Given the description of an element on the screen output the (x, y) to click on. 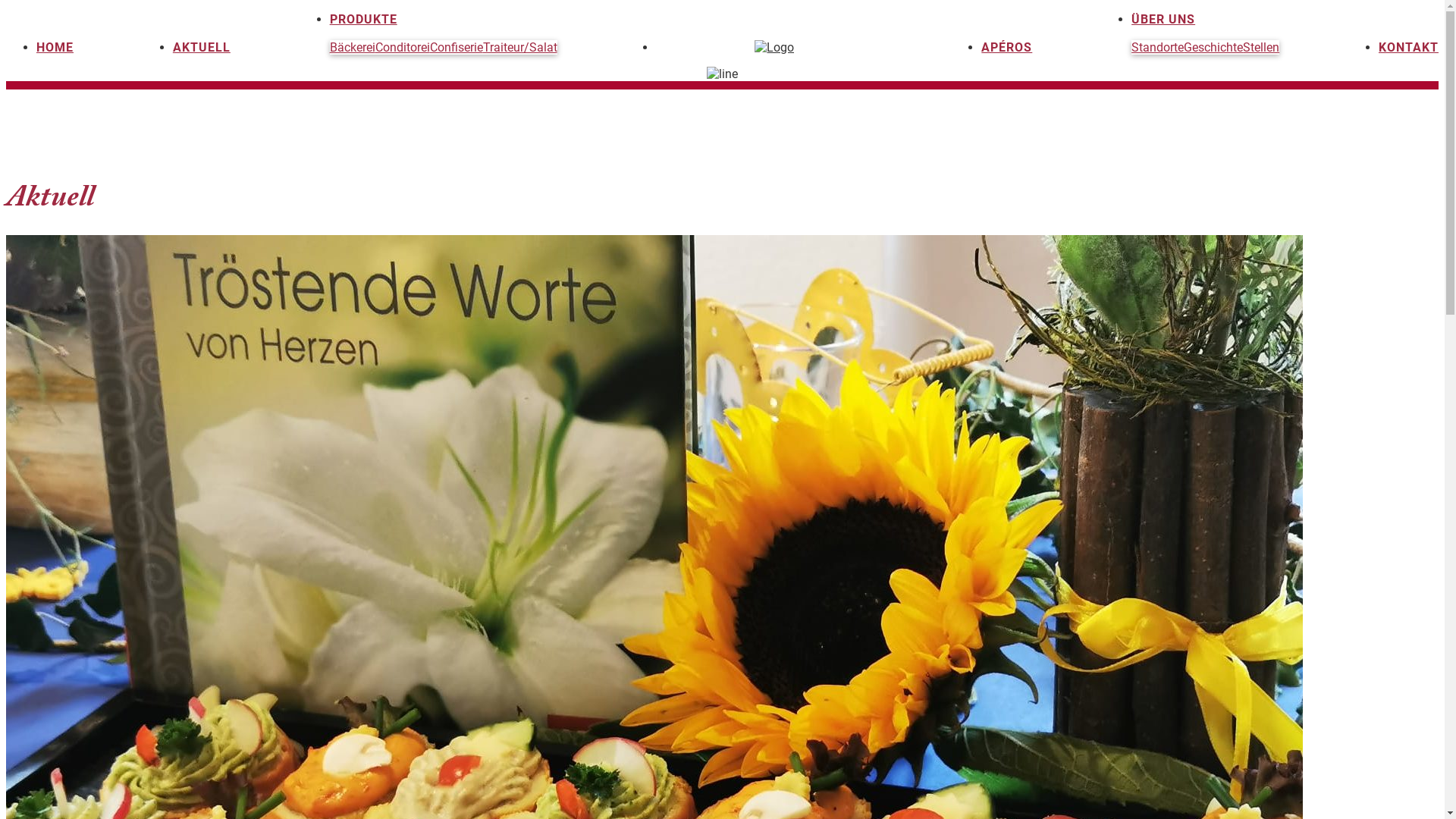
Stellen Element type: text (1260, 47)
Standorte Element type: text (1157, 47)
KONTAKT Element type: text (1408, 47)
HOME Element type: text (54, 47)
AKTUELL Element type: text (201, 47)
Geschichte Element type: text (1212, 47)
Traiteur/Salat Element type: text (520, 47)
PRODUKTE Element type: text (363, 19)
Conditorei Element type: text (402, 47)
Confiserie Element type: text (456, 47)
